Given the description of an element on the screen output the (x, y) to click on. 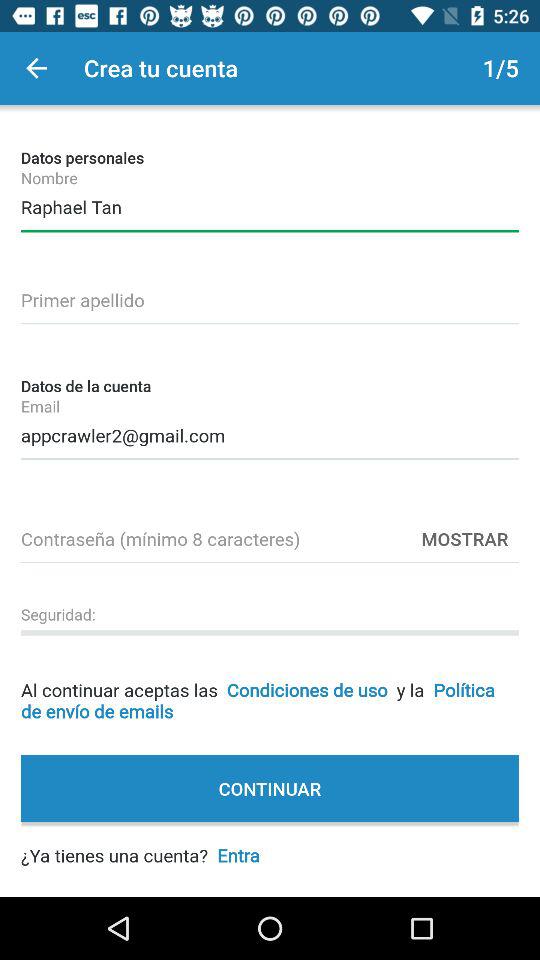
press the icon below raphael tan (270, 297)
